Given the description of an element on the screen output the (x, y) to click on. 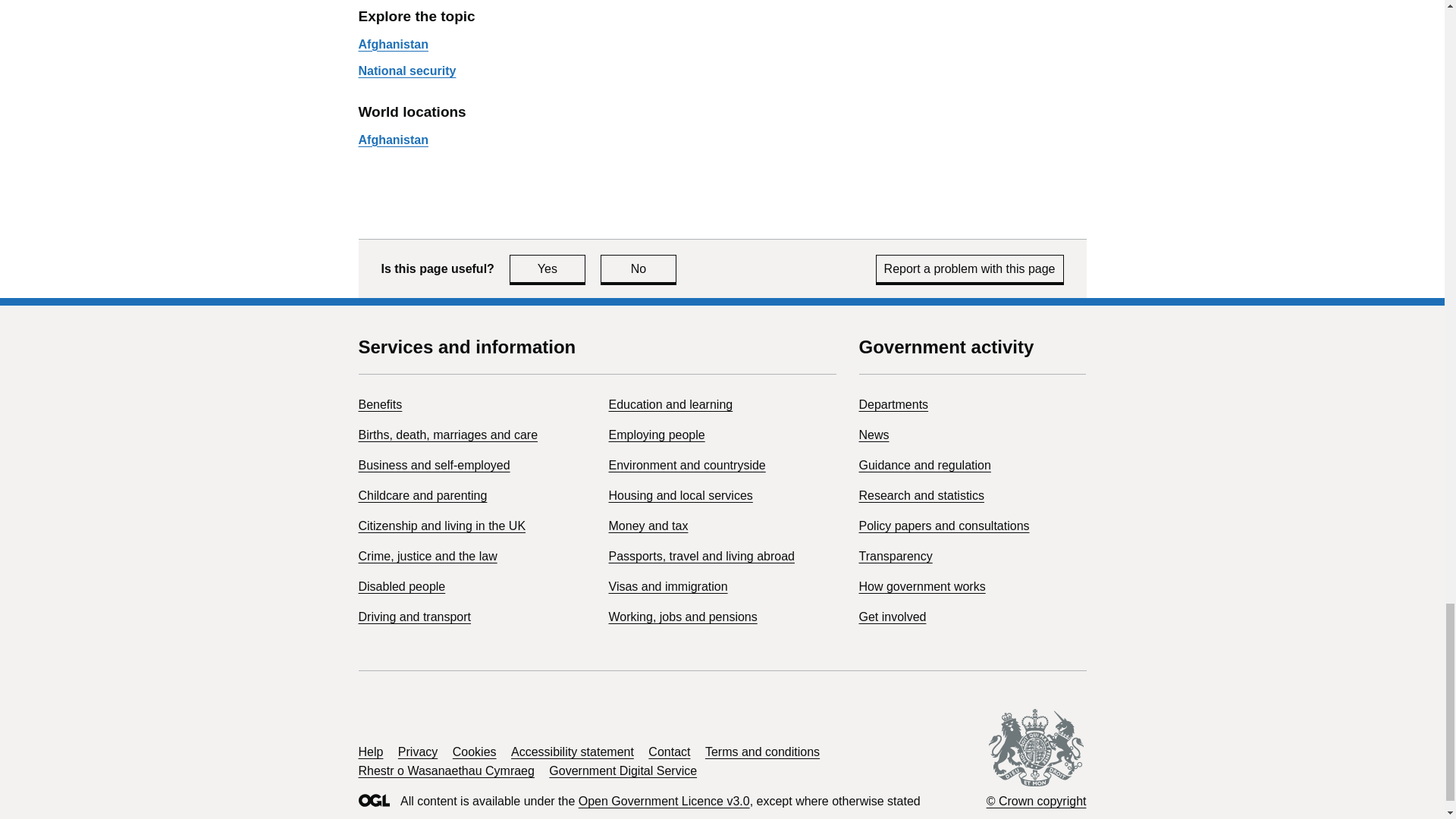
Departments (893, 404)
Money and tax (638, 268)
Passports, travel and living abroad (647, 525)
Benefits (700, 555)
Disabled people (379, 404)
Births, death, marriages and care (401, 585)
Employing people (447, 434)
Childcare and parenting (656, 434)
Afghanistan (422, 495)
Afghanistan (393, 43)
Environment and countryside (393, 139)
Report a problem with this page (686, 464)
News (970, 268)
